Given the description of an element on the screen output the (x, y) to click on. 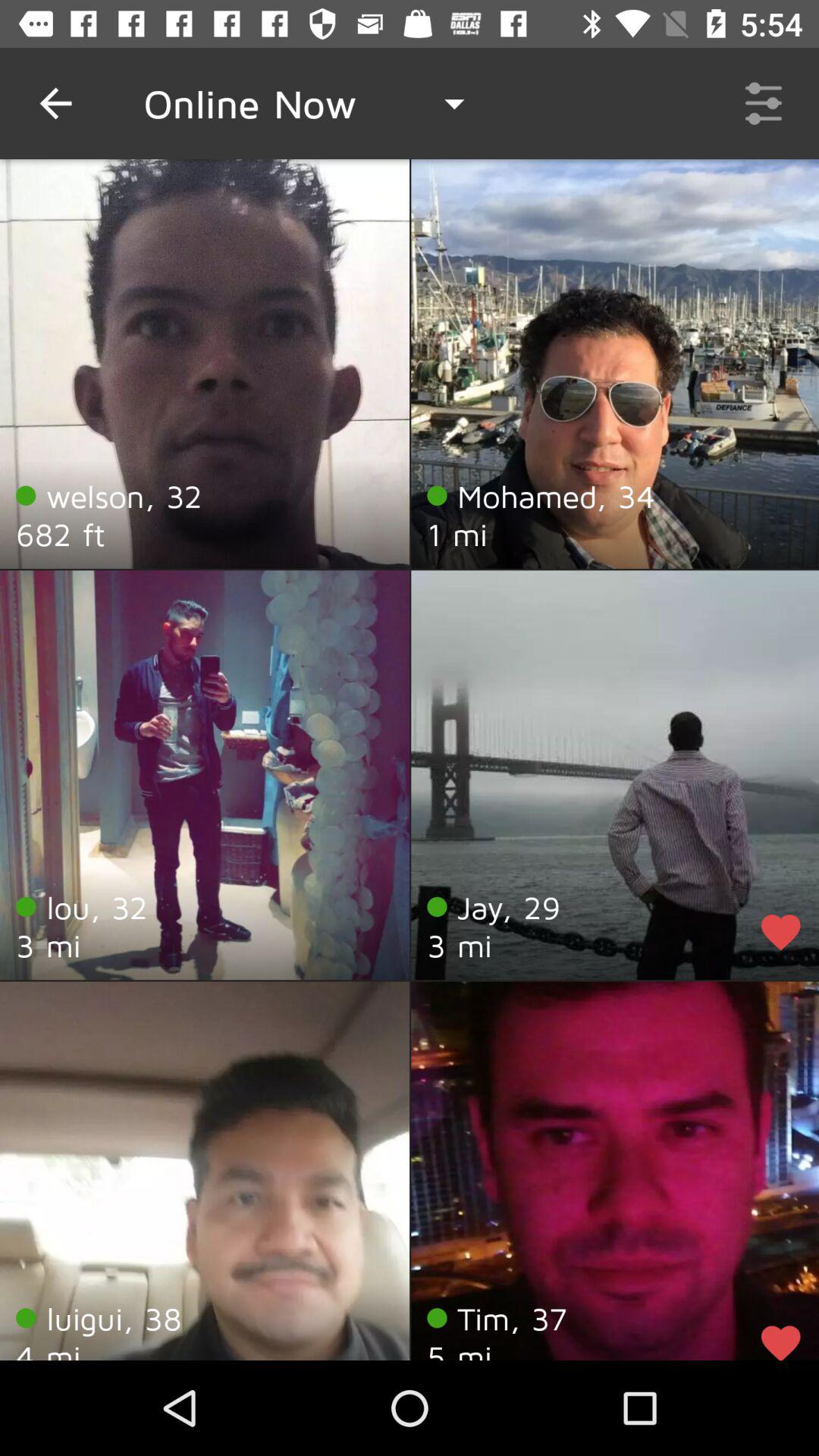
launch icon next to the online now item (55, 103)
